Given the description of an element on the screen output the (x, y) to click on. 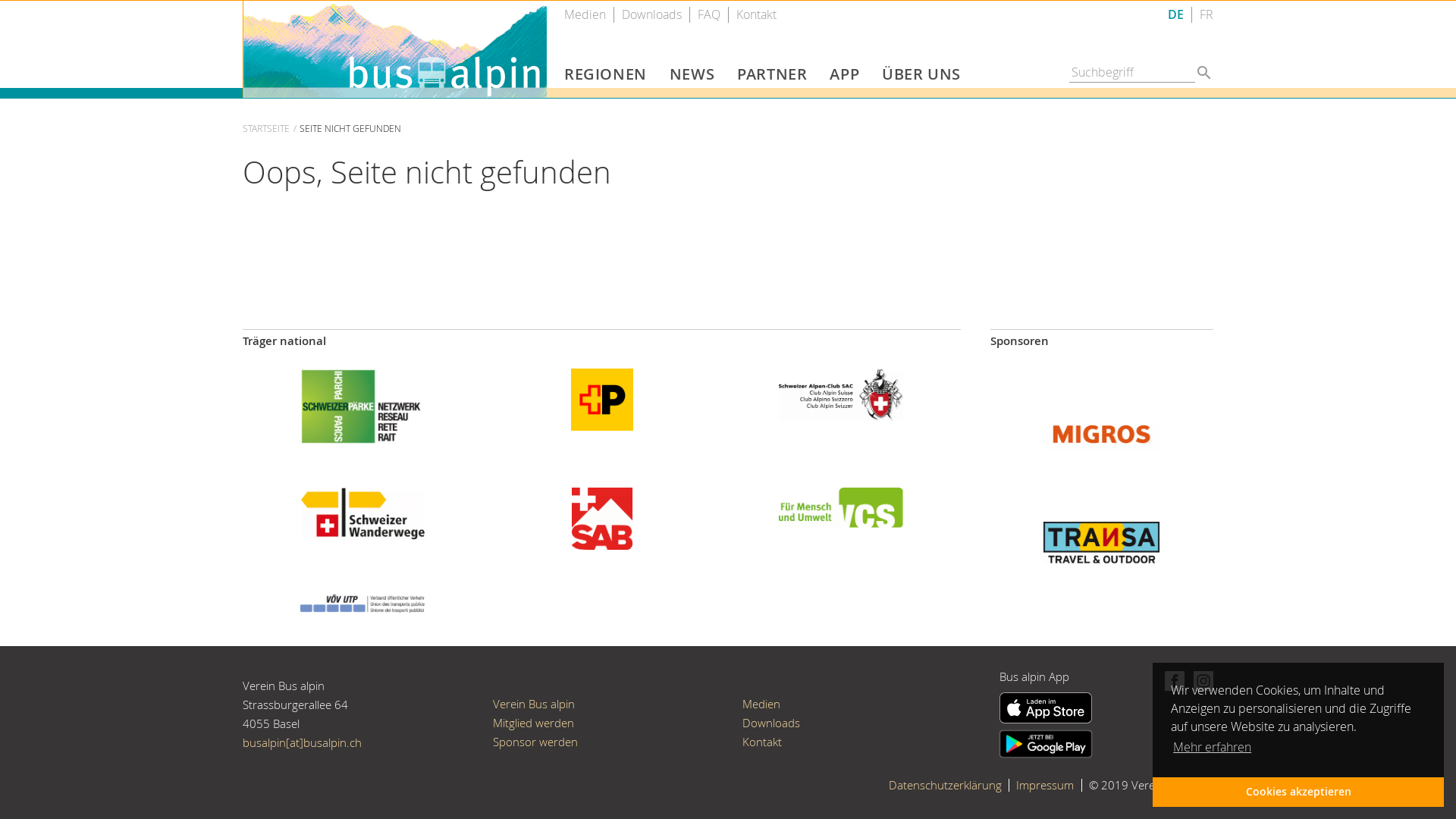
Laden im App Store Element type: hover (1045, 720)
APP Element type: text (844, 78)
PostAuto Element type: hover (601, 397)
Impressum Element type: text (1044, 784)
Instagram Element type: hover (1198, 679)
Downloads Element type: text (771, 722)
REGIONEN Element type: text (605, 78)
Jetzt bei Google Play Element type: hover (1045, 741)
busalpin[at]busalpin.ch Element type: text (301, 741)
Verein Bus alpin Element type: text (533, 703)
Mitglied werden Element type: text (533, 722)
NEWS Element type: text (691, 78)
Kontakt Element type: text (761, 741)
Sponsor werden Element type: text (534, 741)
Schweizer Wanderwege Element type: hover (362, 511)
Schweizer Alpen-Club SAC Element type: hover (840, 392)
FAQ Element type: text (708, 14)
DE Element type: text (1175, 14)
Facebook Element type: hover (1172, 679)
FR Element type: text (1206, 14)
Medien Element type: text (761, 703)
Mehr erfahren Element type: text (1211, 746)
PARTNER Element type: text (771, 78)
STARTSEITE Element type: text (265, 128)
Transa Element type: hover (1101, 541)
Medien Element type: text (584, 14)
Cookies akzeptieren Element type: text (1297, 791)
Migros Element type: hover (1101, 432)
VCS Verkehrs-Club der Schweiz Element type: hover (840, 505)
Downloads Element type: text (651, 14)
Kontakt Element type: text (756, 14)
